Given the description of an element on the screen output the (x, y) to click on. 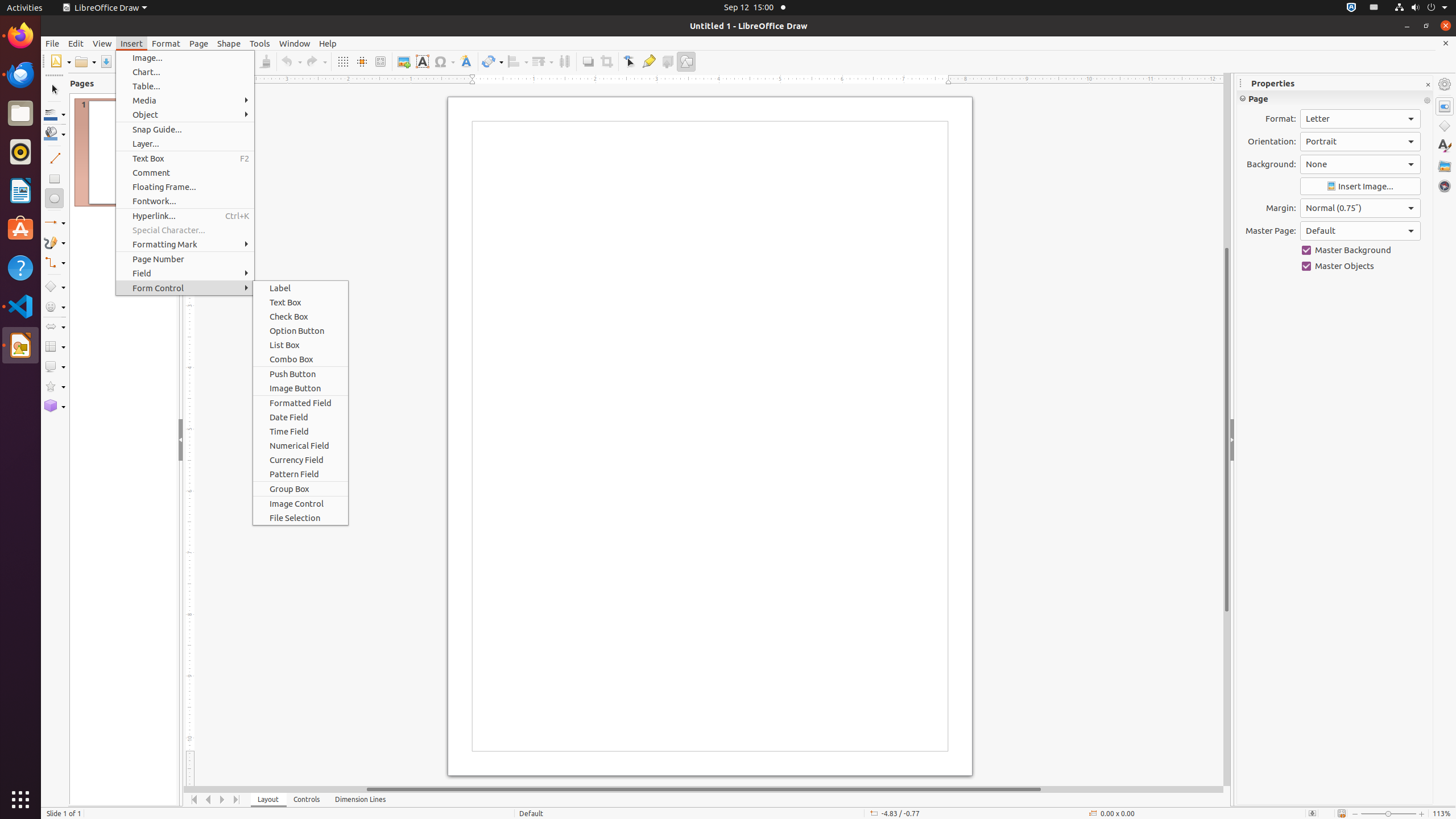
Group Box Element type: check-menu-item (300, 488)
Arrange Element type: push-button (542, 61)
Object Element type: menu (185, 114)
Fontwork Style Element type: toggle-button (465, 61)
Properties Element type: radio-button (1444, 106)
